Given the description of an element on the screen output the (x, y) to click on. 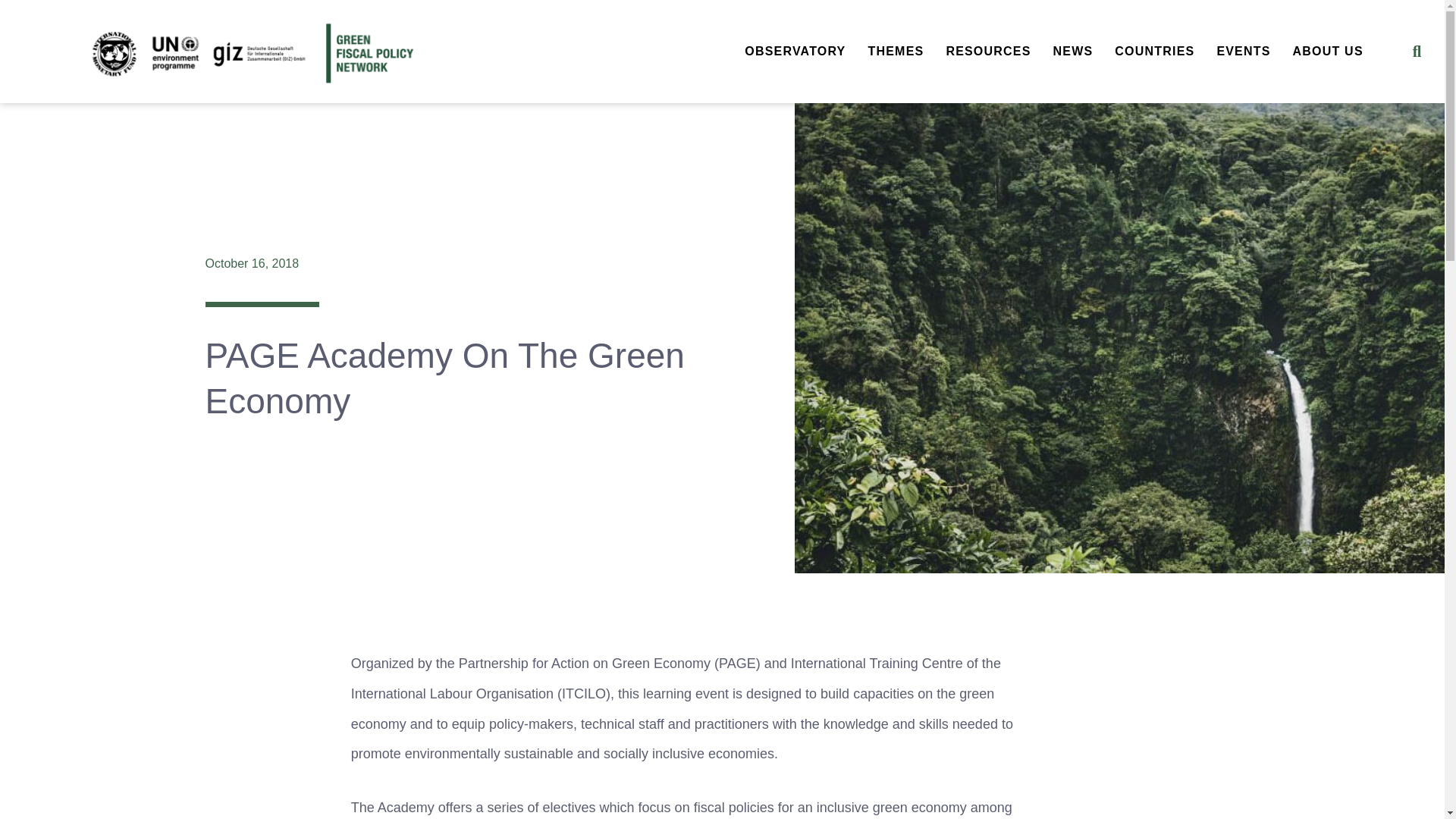
ABOUT US (1327, 51)
NEWS (1073, 51)
OBSERVATORY (794, 51)
COUNTRIES (1154, 51)
THEMES (896, 51)
RESOURCES (987, 51)
EVENTS (1243, 51)
